Given the description of an element on the screen output the (x, y) to click on. 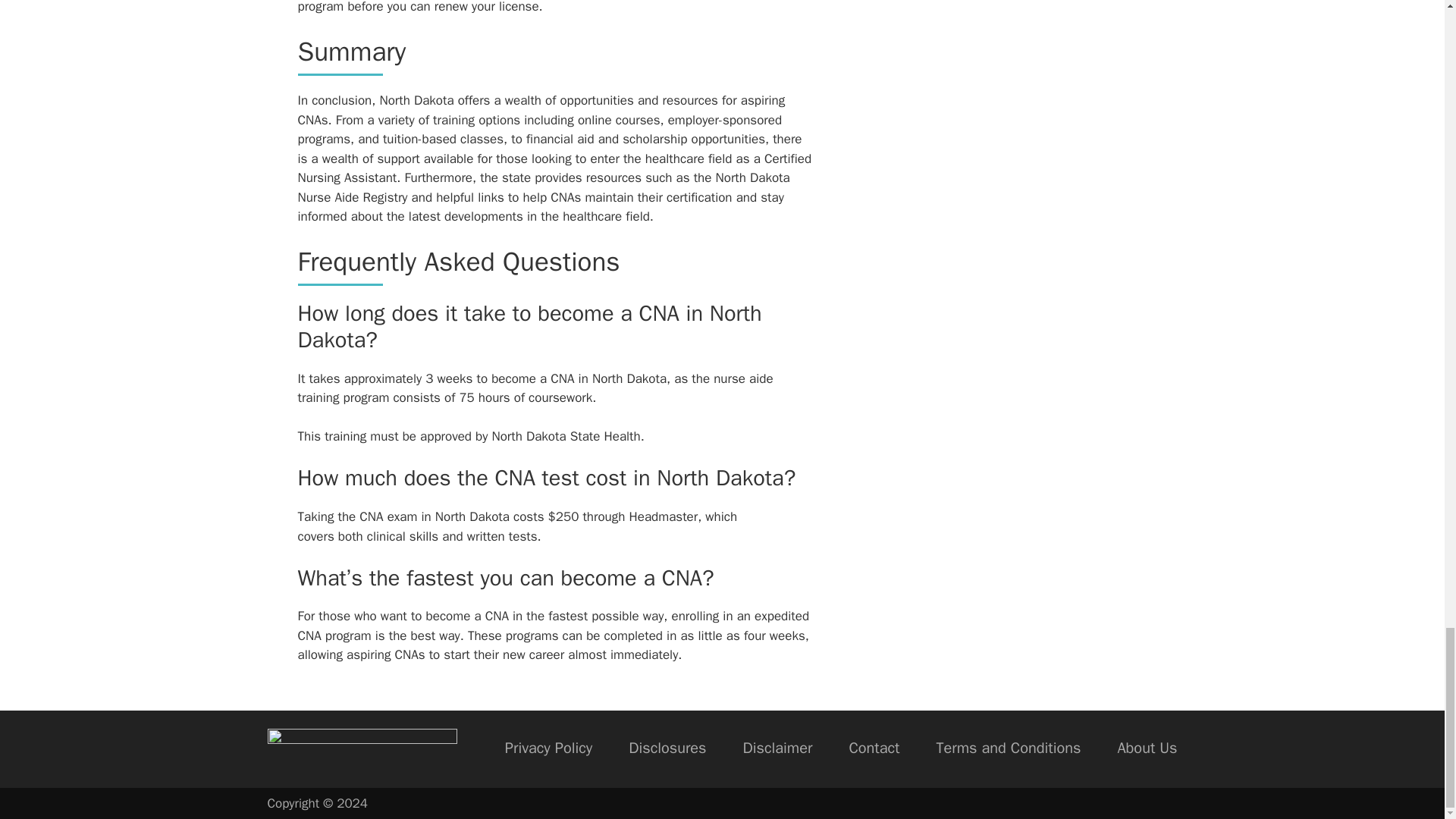
Privacy Policy (548, 749)
Contact (873, 749)
Disclaimer (777, 749)
Privacy Policy (548, 749)
Disclaimer (777, 749)
Disclosures (667, 749)
Disclosures (667, 749)
Contact (873, 749)
